Given the description of an element on the screen output the (x, y) to click on. 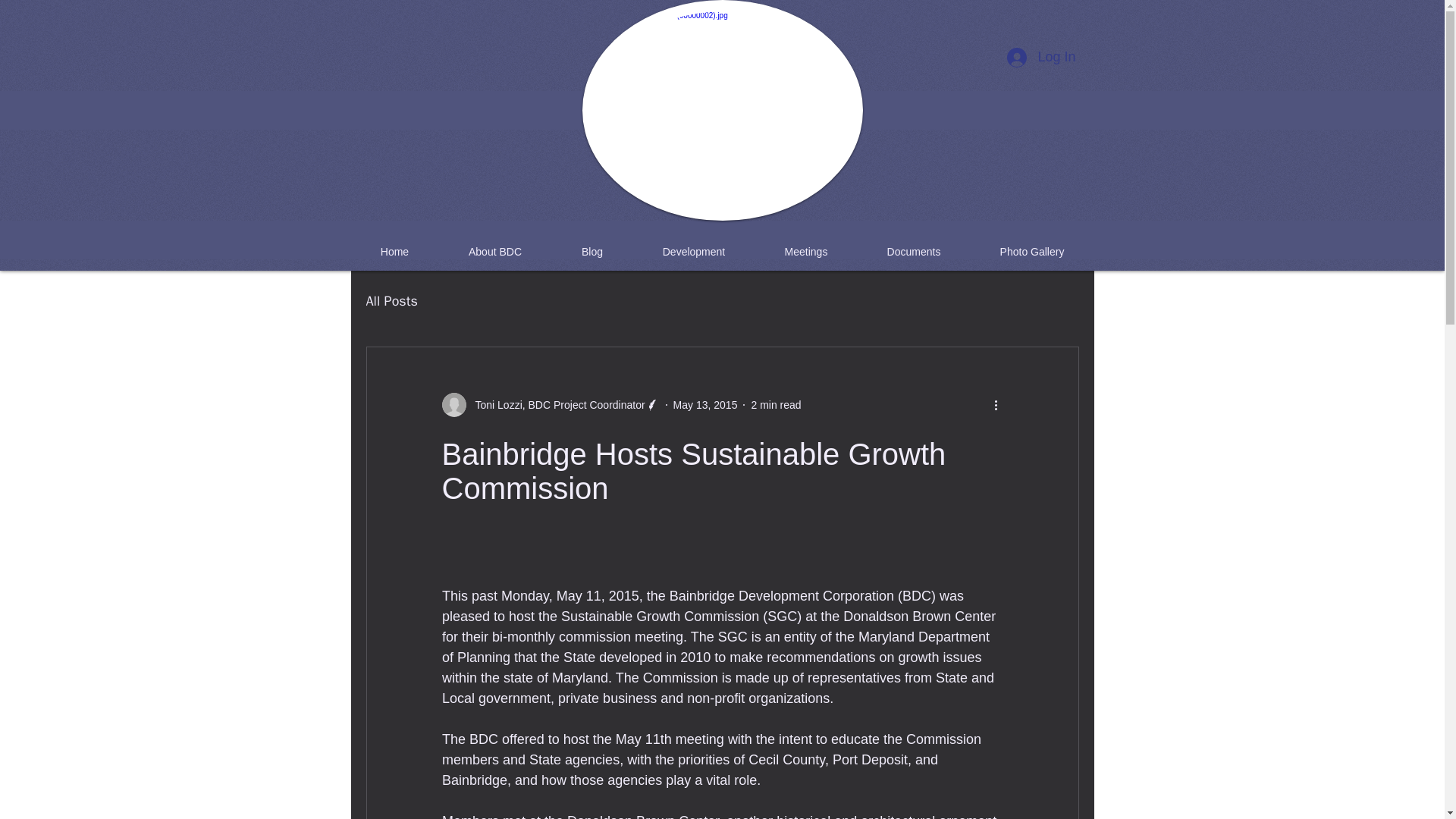
Meetings (806, 251)
Documents (913, 251)
Toni Lozzi, BDC Project Coordinator (555, 405)
Toni Lozzi, BDC Project Coordinator (550, 404)
Blog (592, 251)
May 13, 2015 (705, 404)
2 min read (775, 404)
Development (692, 251)
All Posts (390, 300)
About BDC (494, 251)
Home (394, 251)
Log In (1040, 57)
Photo Gallery (1032, 251)
